Given the description of an element on the screen output the (x, y) to click on. 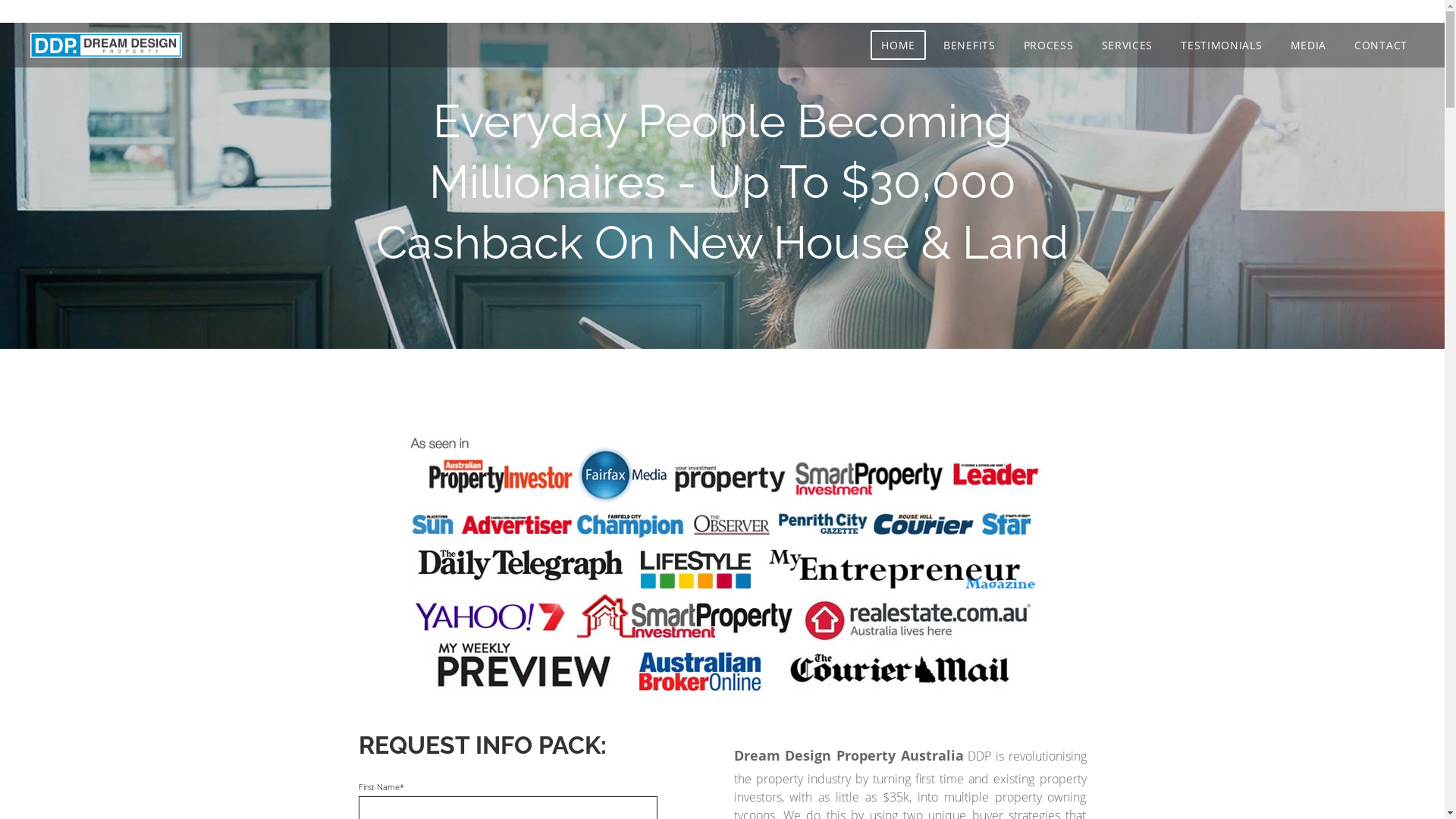
BENEFITS Element type: text (969, 44)
SERVICES Element type: text (1127, 44)
HOME Element type: text (897, 44)
PROCESS Element type: text (1048, 44)
MEDIA Element type: text (1308, 44)
CONTACT Element type: text (1380, 44)
TESTIMONIALS Element type: text (1221, 44)
